Given the description of an element on the screen output the (x, y) to click on. 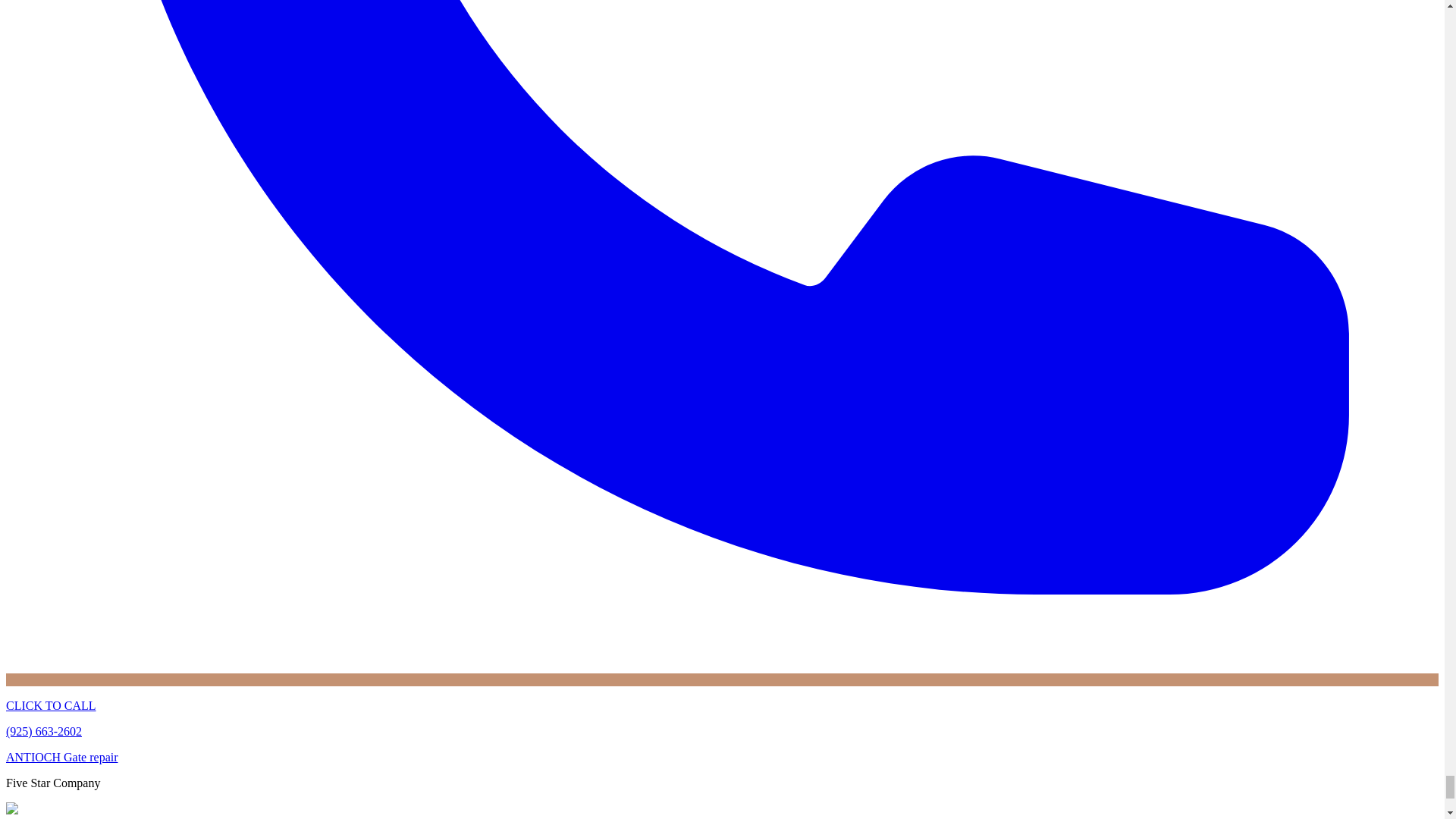
Star Set Image (36, 808)
